Given the description of an element on the screen output the (x, y) to click on. 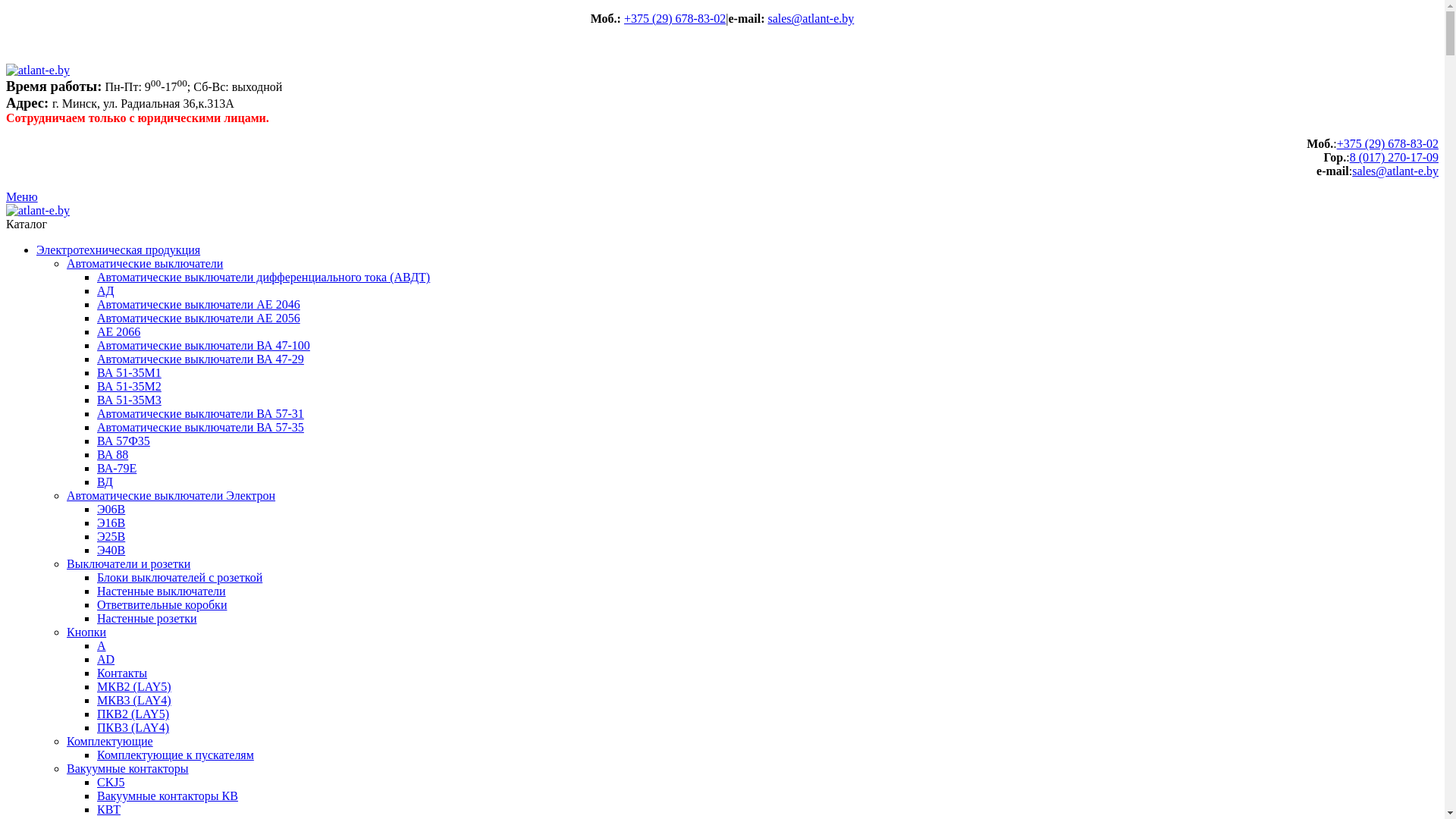
sales@atlant-e.by Element type: text (810, 18)
AD Element type: text (105, 658)
sales@atlant-e.by Element type: text (1395, 170)
8 (017) 270-17-09 Element type: text (1393, 156)
+375 (29) 678-83-02 Element type: text (1387, 143)
CKJ5 Element type: text (110, 781)
A Element type: text (101, 645)
+375 (29) 678-83-02 Element type: text (674, 18)
